Given the description of an element on the screen output the (x, y) to click on. 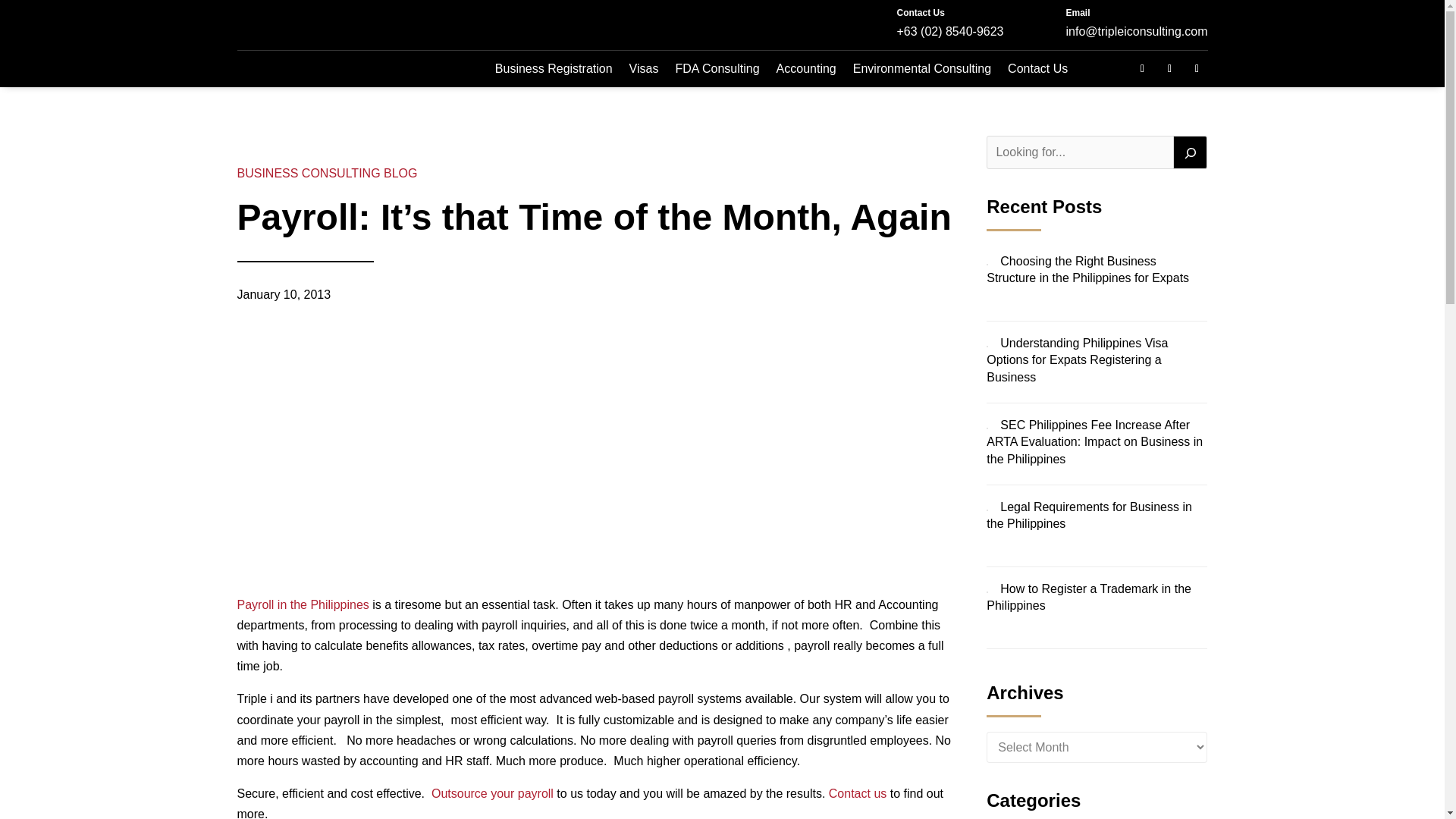
Follow on Facebook (1142, 68)
Business Registration (553, 68)
Contact Us (857, 793)
Follow on LinkedIn (1196, 68)
Accounting (805, 68)
triplei-logo-simplify-white (330, 24)
Payroll Philippines (301, 604)
Follow on X (1168, 68)
FDA Consulting (716, 68)
Contact Us (919, 12)
